Given the description of an element on the screen output the (x, y) to click on. 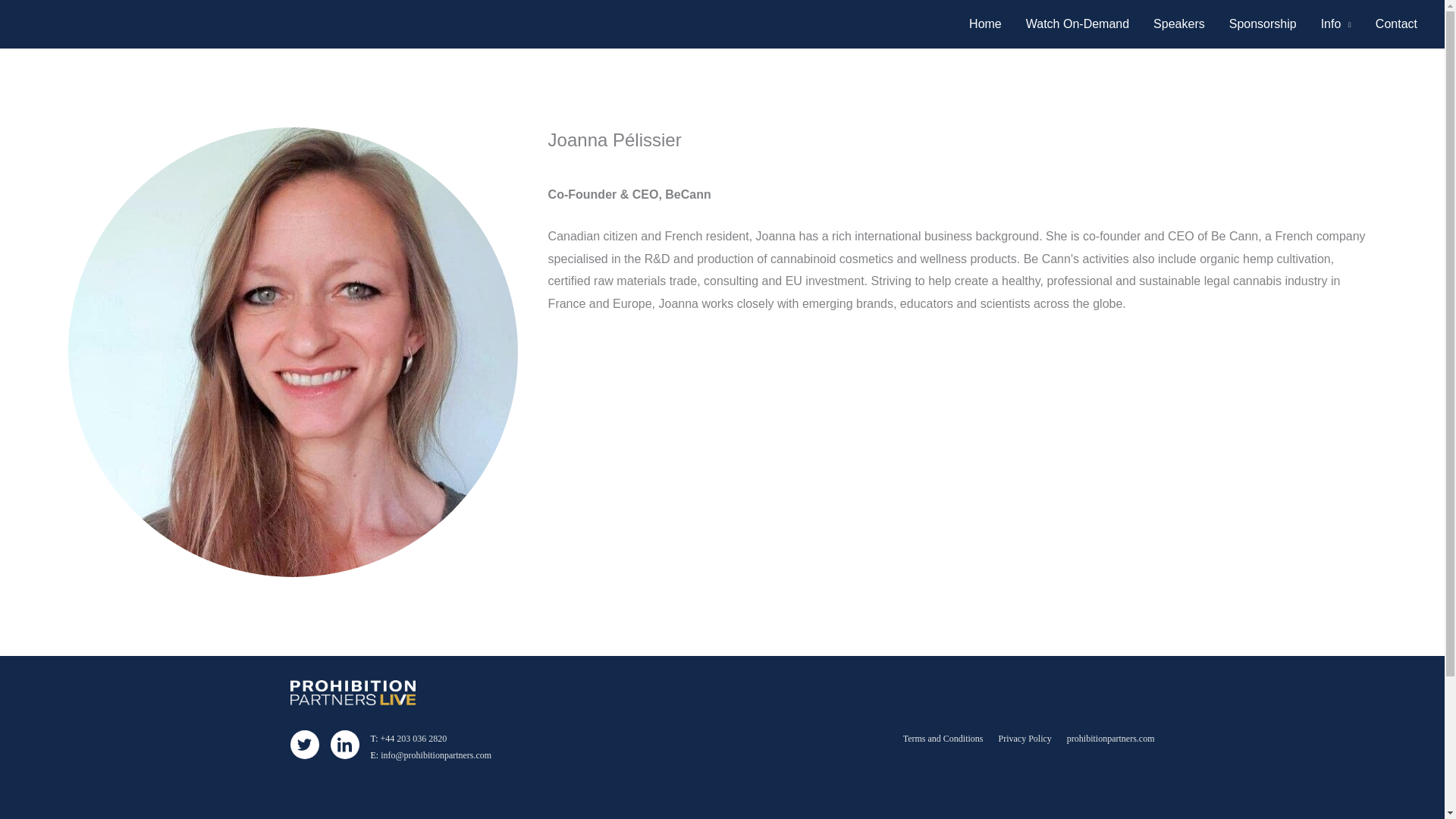
Terms and Conditions (943, 738)
Contact (1395, 24)
Watch On-Demand (1077, 24)
prohibitionpartners.com (1110, 738)
Speakers (1179, 24)
Home (984, 24)
Sponsorship (1262, 24)
Info (1335, 24)
Privacy Policy (1024, 738)
